Given the description of an element on the screen output the (x, y) to click on. 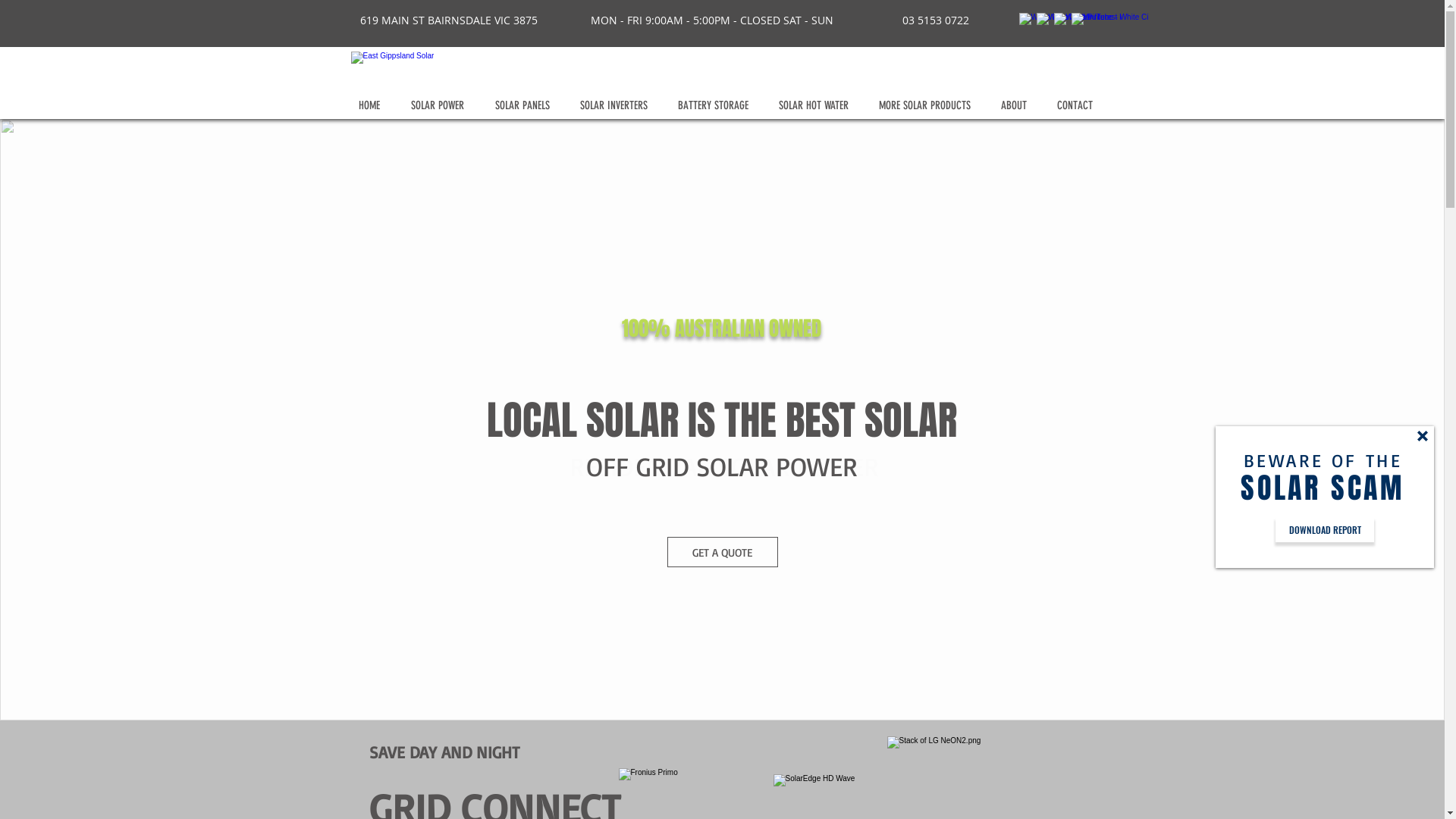
HOME Element type: text (373, 105)
CONTACT Element type: text (1077, 105)
East Gippsland Solar - Local Solar Is The Best Solar Element type: hover (459, 70)
DOWNLOAD REPORT Element type: text (1324, 529)
GET A QUOTE Element type: text (722, 551)
SOLAR HOT WATER Element type: text (817, 105)
Back to site Element type: hover (1422, 435)
SOLAR POWER Element type: text (440, 105)
TWIPLA (Visitor Analytics) Element type: hover (720, 273)
ABOUT Element type: text (1016, 105)
